Given the description of an element on the screen output the (x, y) to click on. 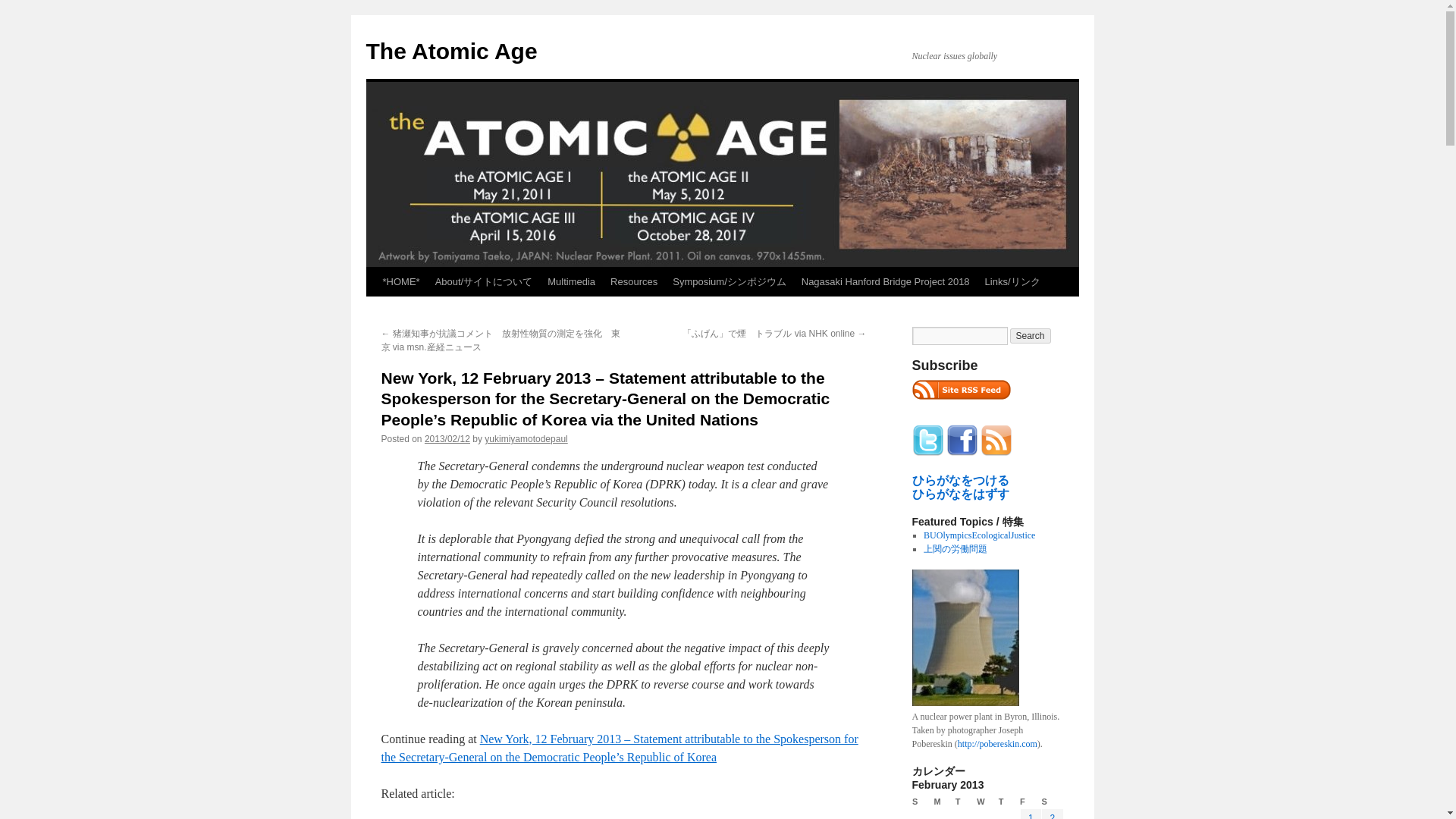
Friday (1030, 801)
yukimiyamotodepaul (525, 439)
The Atomic Age (451, 50)
Search (1030, 335)
Wednesday (986, 801)
Monday (944, 801)
Nagasaki Hanford Bridge Project 2018 (884, 281)
TokyoOlympicsEcologicalJustice (979, 534)
Multimedia (571, 281)
Resources (633, 281)
Thursday (1009, 801)
 latest posts (960, 389)
6:25 am (447, 439)
Sunday (922, 801)
RSS 2.0 feed for posts (960, 403)
